Given the description of an element on the screen output the (x, y) to click on. 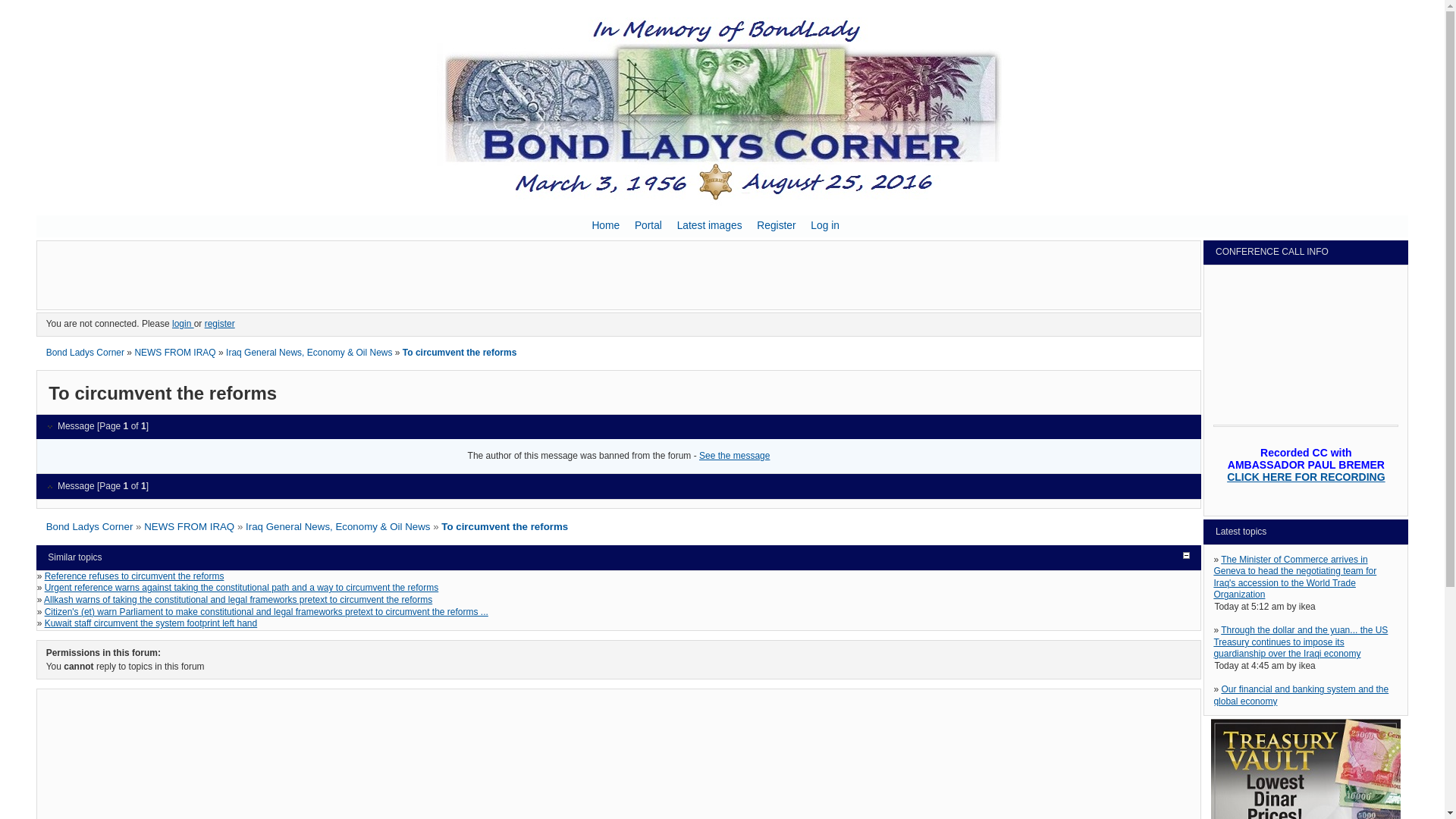
Bond Ladys Corner (89, 526)
register (219, 323)
Log in (824, 225)
CLICK HERE FOR RECORDING (1305, 476)
Register (774, 225)
Home (605, 225)
Our financial and banking system and the global economy (1300, 694)
Latest images (709, 225)
